Given the description of an element on the screen output the (x, y) to click on. 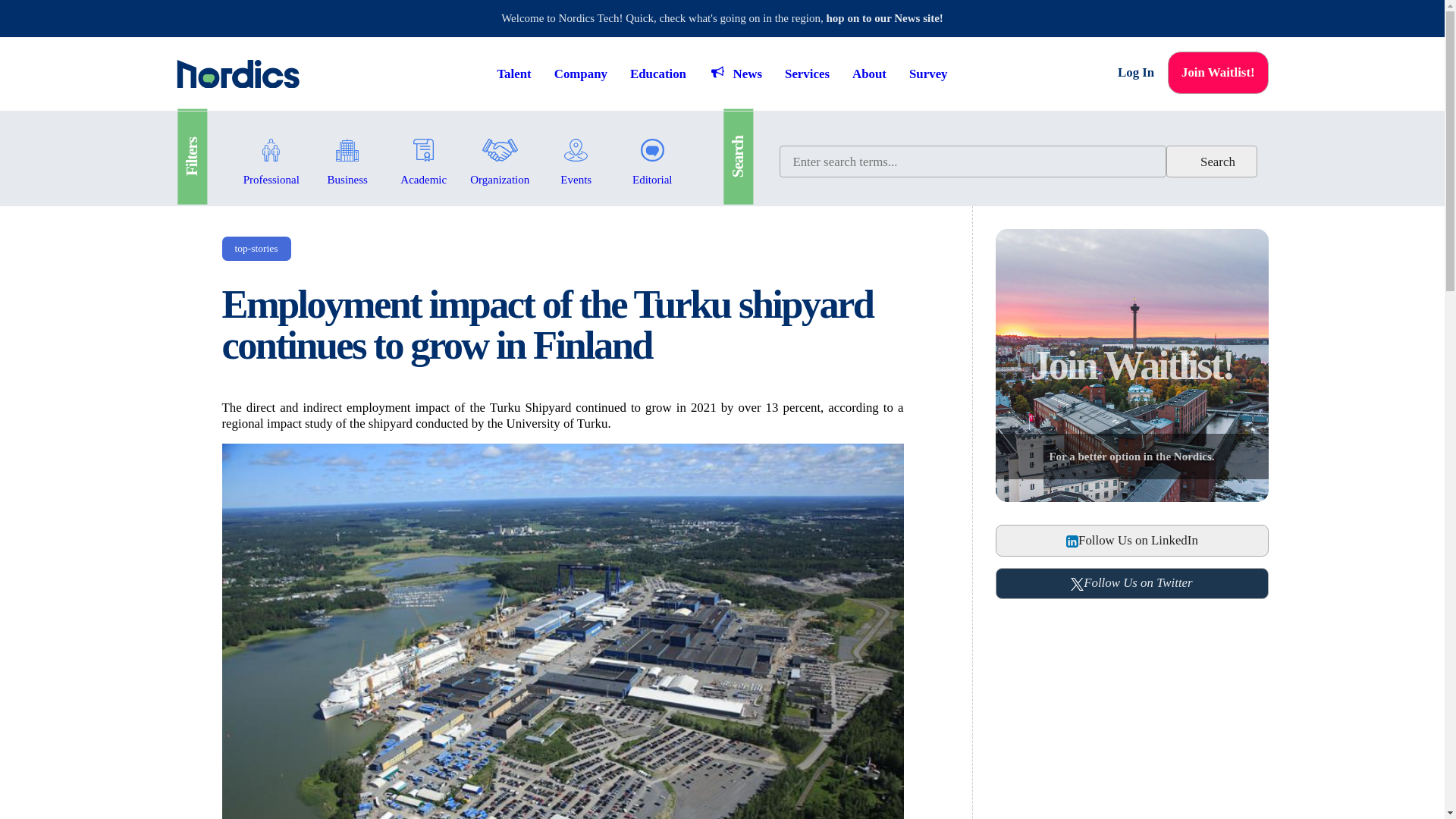
Editorial (652, 147)
Organization (499, 147)
Business (346, 147)
Talent (271, 147)
Education (657, 73)
Follow Us on Twitter (1131, 583)
Services (806, 73)
Survey (927, 73)
About (868, 73)
Education (423, 147)
